Given the description of an element on the screen output the (x, y) to click on. 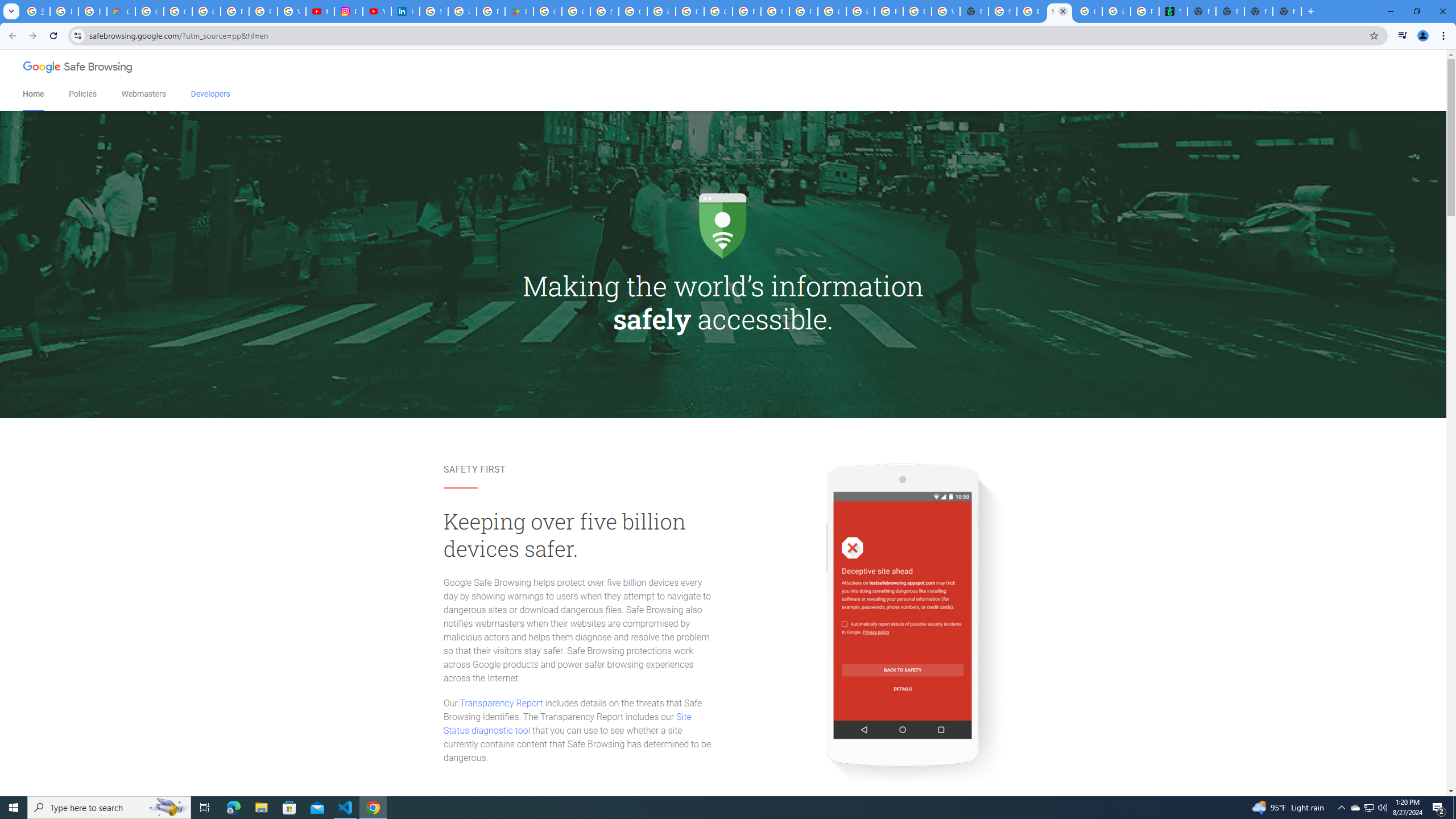
YouTube Culture & Trends - On The Rise: Handcam Videos (377, 11)
New Tab (973, 11)
New Tab (1287, 11)
Webmasters (142, 94)
